Given the description of an element on the screen output the (x, y) to click on. 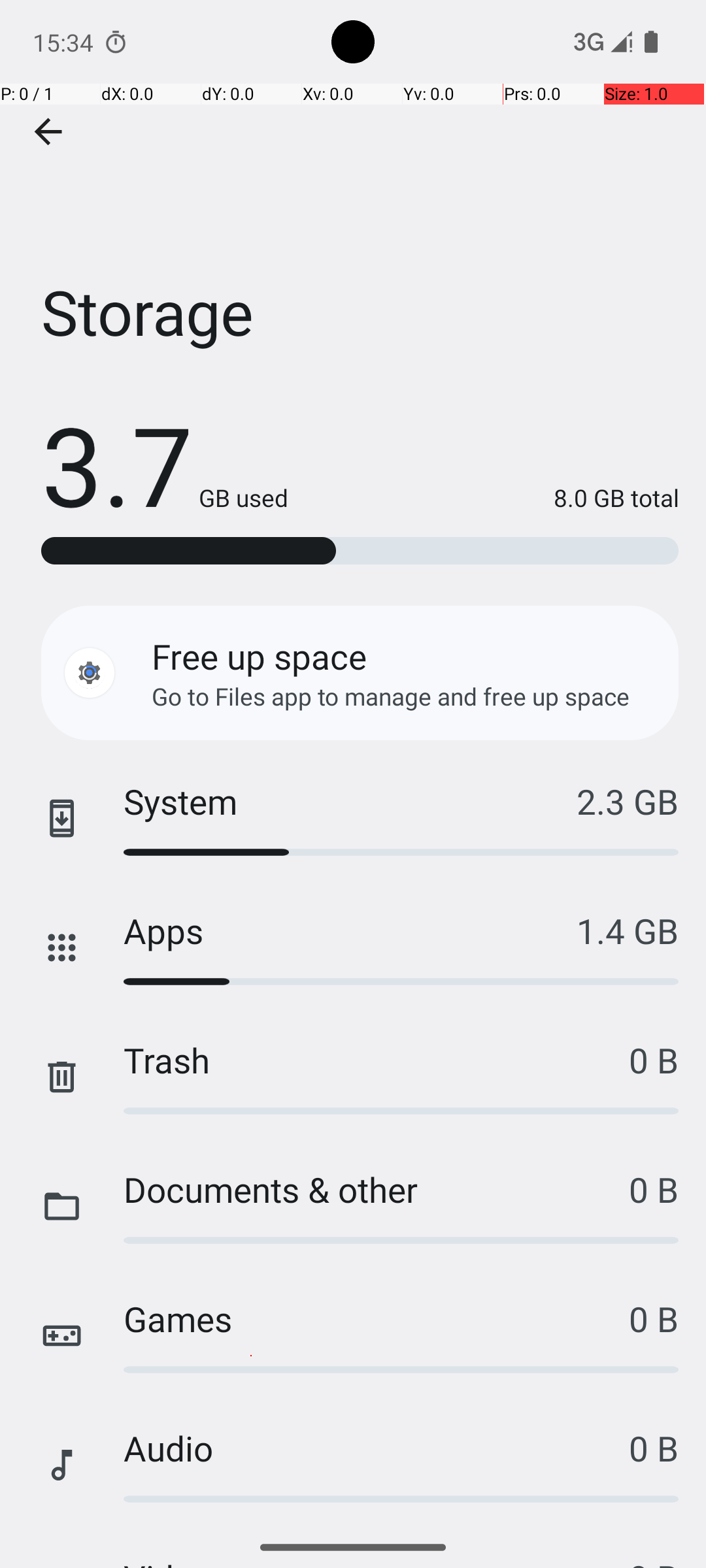
3.7 GB used Element type: android.widget.TextView (164, 463)
